Given the description of an element on the screen output the (x, y) to click on. 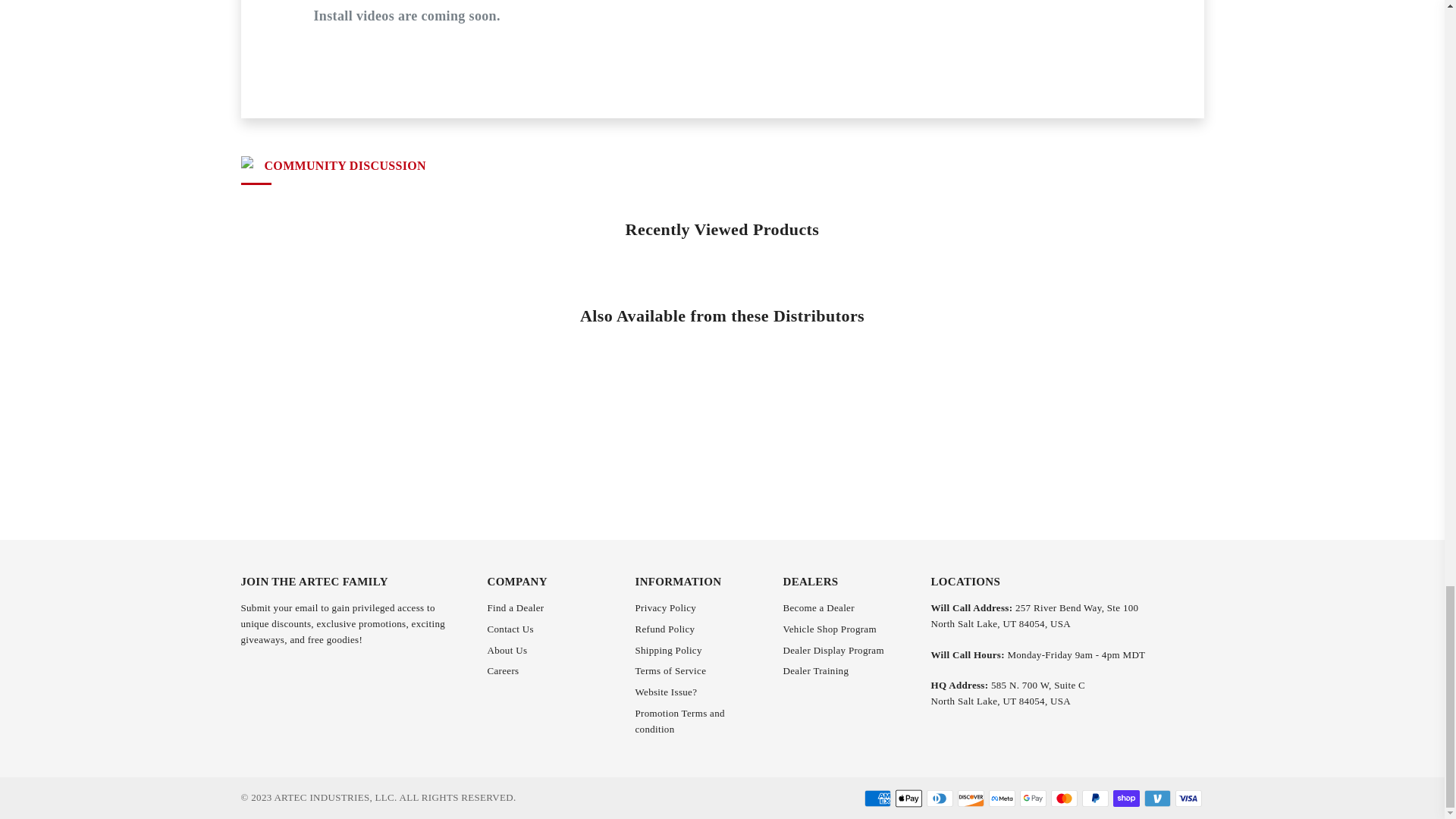
Mastercard (1064, 798)
Shop Pay (1126, 798)
Meta Pay (1001, 798)
Diners Club (939, 798)
Discover (970, 798)
PayPal (1094, 798)
Google Pay (1032, 798)
Venmo (1156, 798)
Visa (1188, 798)
Apple Pay (908, 798)
